Given the description of an element on the screen output the (x, y) to click on. 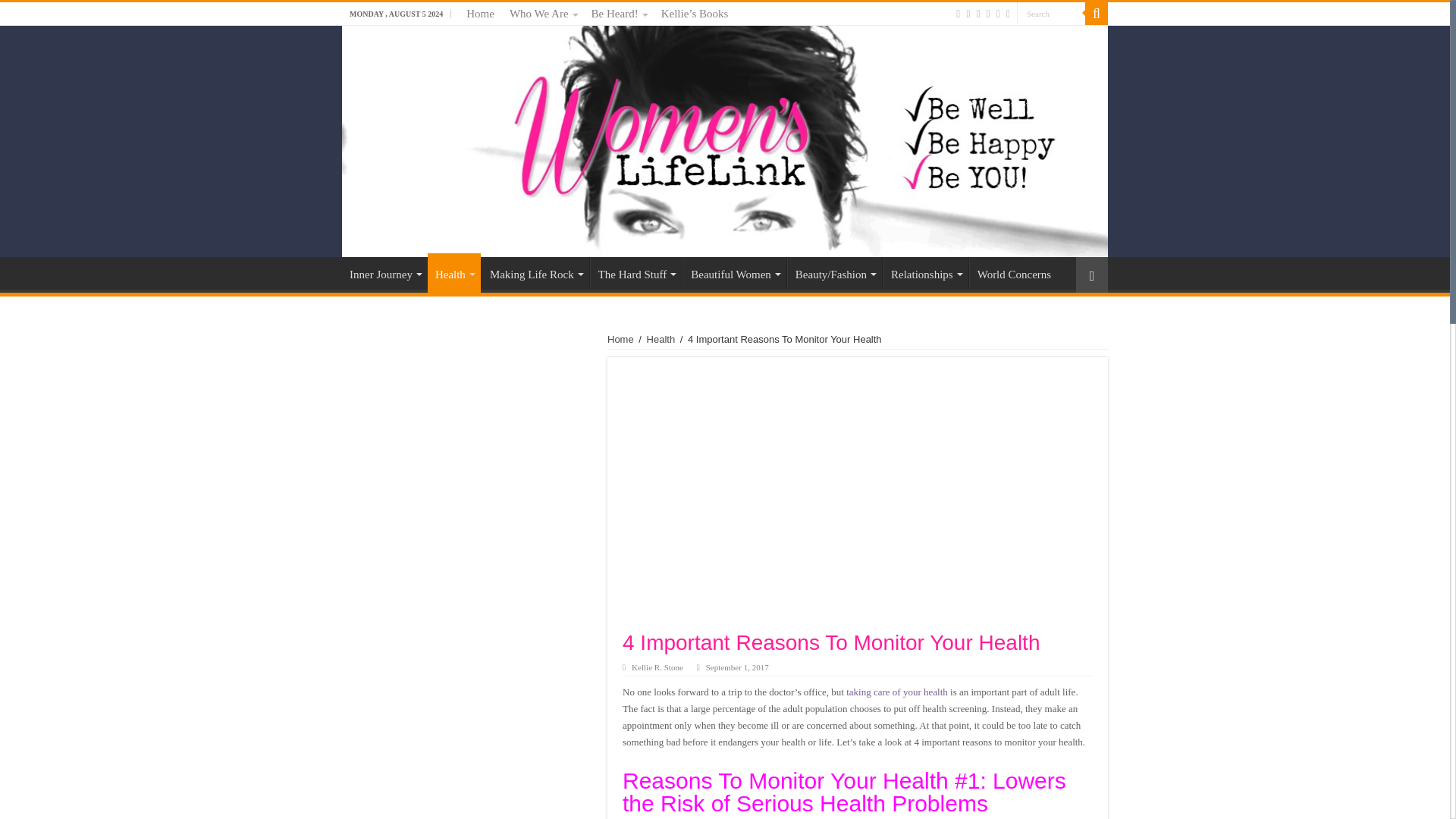
Inner Journey (385, 273)
Search (1096, 13)
Health (454, 272)
Home (480, 13)
Be Heard! (618, 13)
Making Life Rock (535, 273)
Search (1050, 13)
Who We Are (542, 13)
Search (1050, 13)
Search (1050, 13)
